Given the description of an element on the screen output the (x, y) to click on. 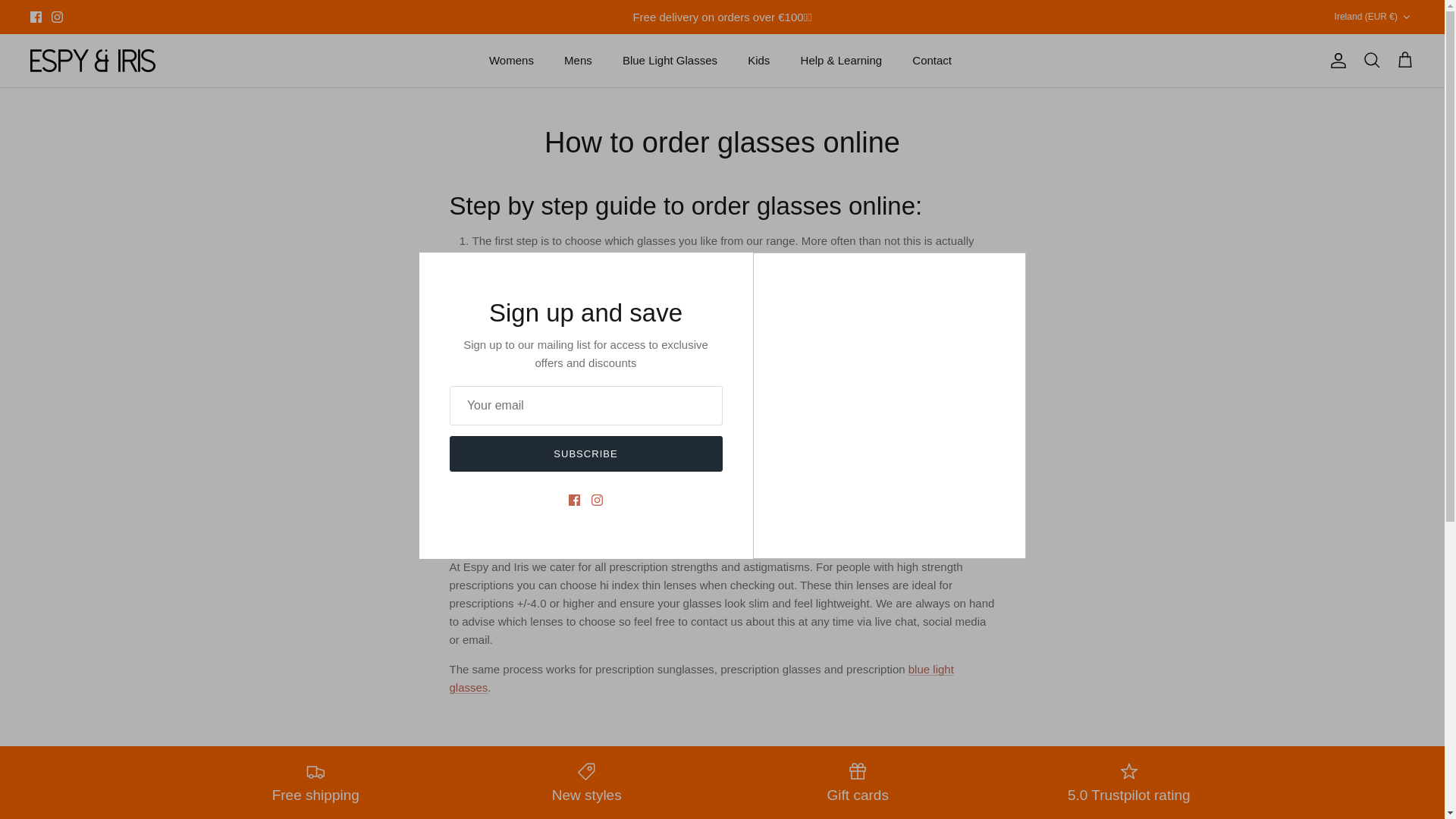
Down (1406, 17)
Instagram (56, 16)
Facebook (36, 16)
Instagram (56, 16)
Blue Light Glasses (669, 61)
Womens (511, 61)
Facebook (36, 16)
Mens (577, 61)
